Given the description of an element on the screen output the (x, y) to click on. 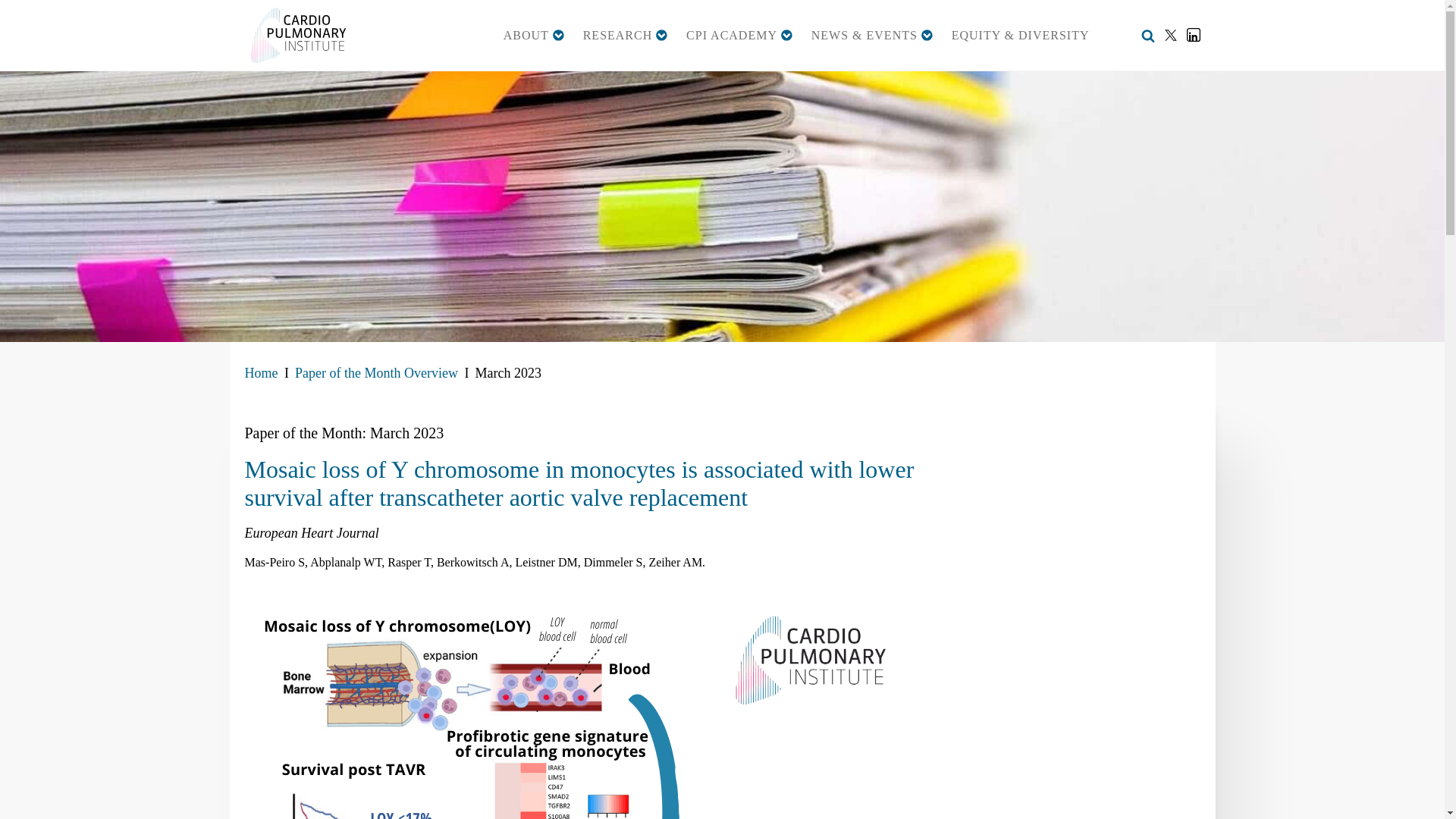
RESEARCH (625, 35)
Breadcrumb link to Paper of the Month Overview (376, 372)
Breadcrumb link to Home (261, 372)
ABOUT (534, 35)
Home (261, 372)
CPI ACADEMY (739, 35)
Paper of the Month Overview (376, 372)
